Given the description of an element on the screen output the (x, y) to click on. 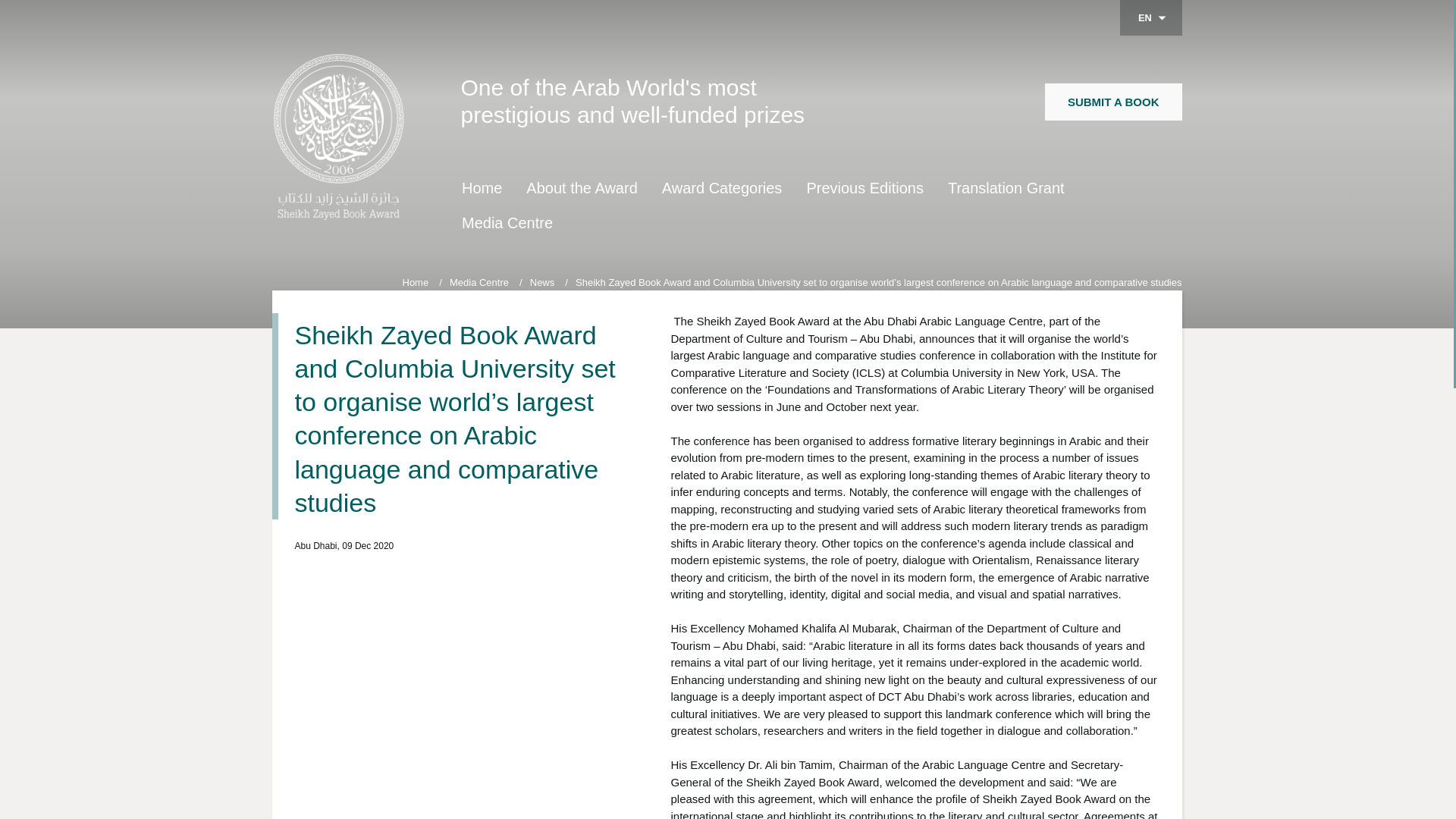
Media Centre (506, 219)
Award Categories (721, 184)
Media Centre (480, 282)
Translation Grant (1004, 184)
About the Award (581, 184)
Previous Editions (864, 184)
News (543, 282)
SUBMIT A BOOK (1113, 101)
Home (480, 184)
Home (414, 282)
